Given the description of an element on the screen output the (x, y) to click on. 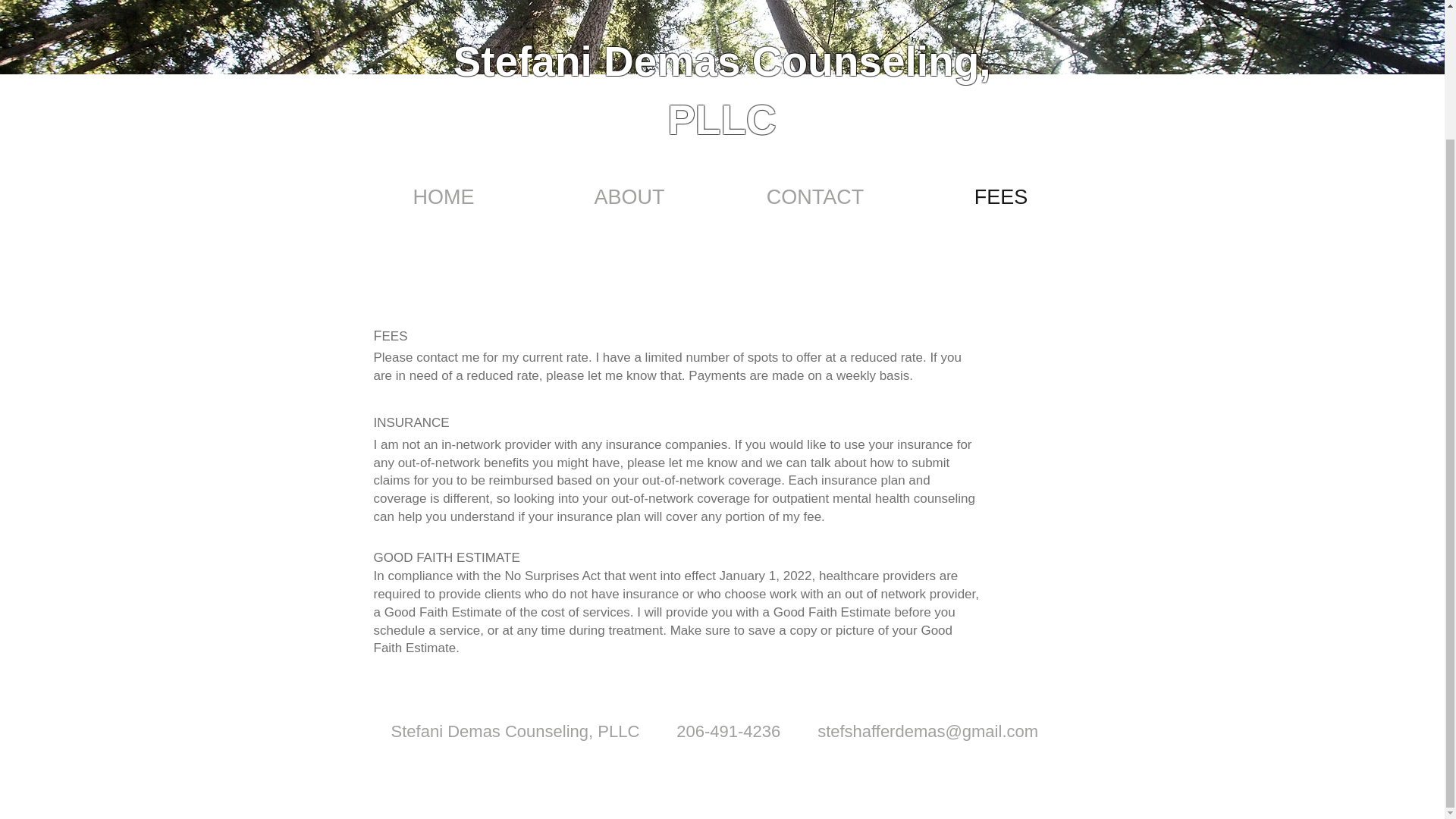
HOME (442, 195)
ABOUT (629, 195)
FEES (1001, 195)
CONTACT (814, 195)
